Given the description of an element on the screen output the (x, y) to click on. 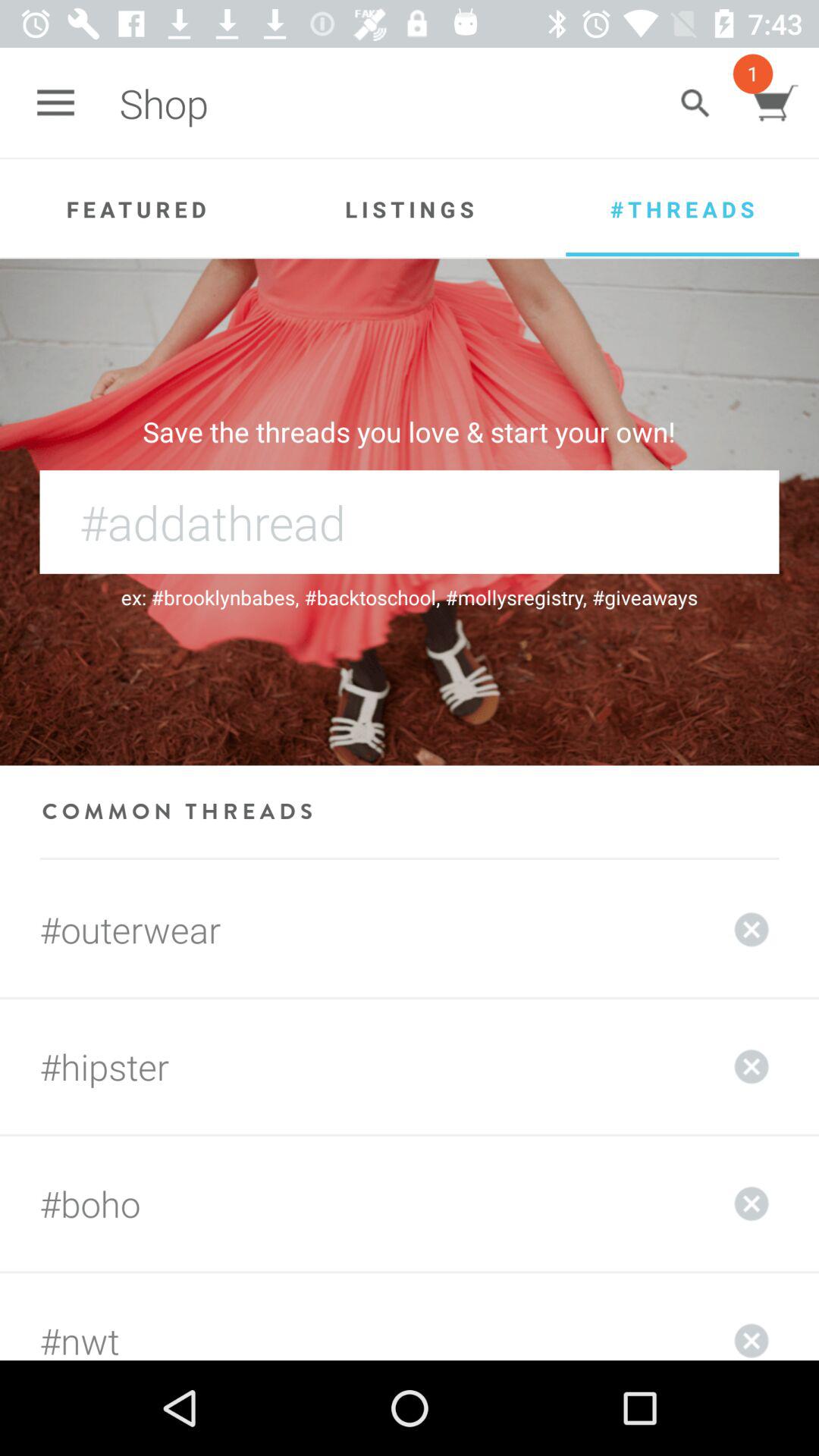
enter hashtag with name (409, 521)
